Given the description of an element on the screen output the (x, y) to click on. 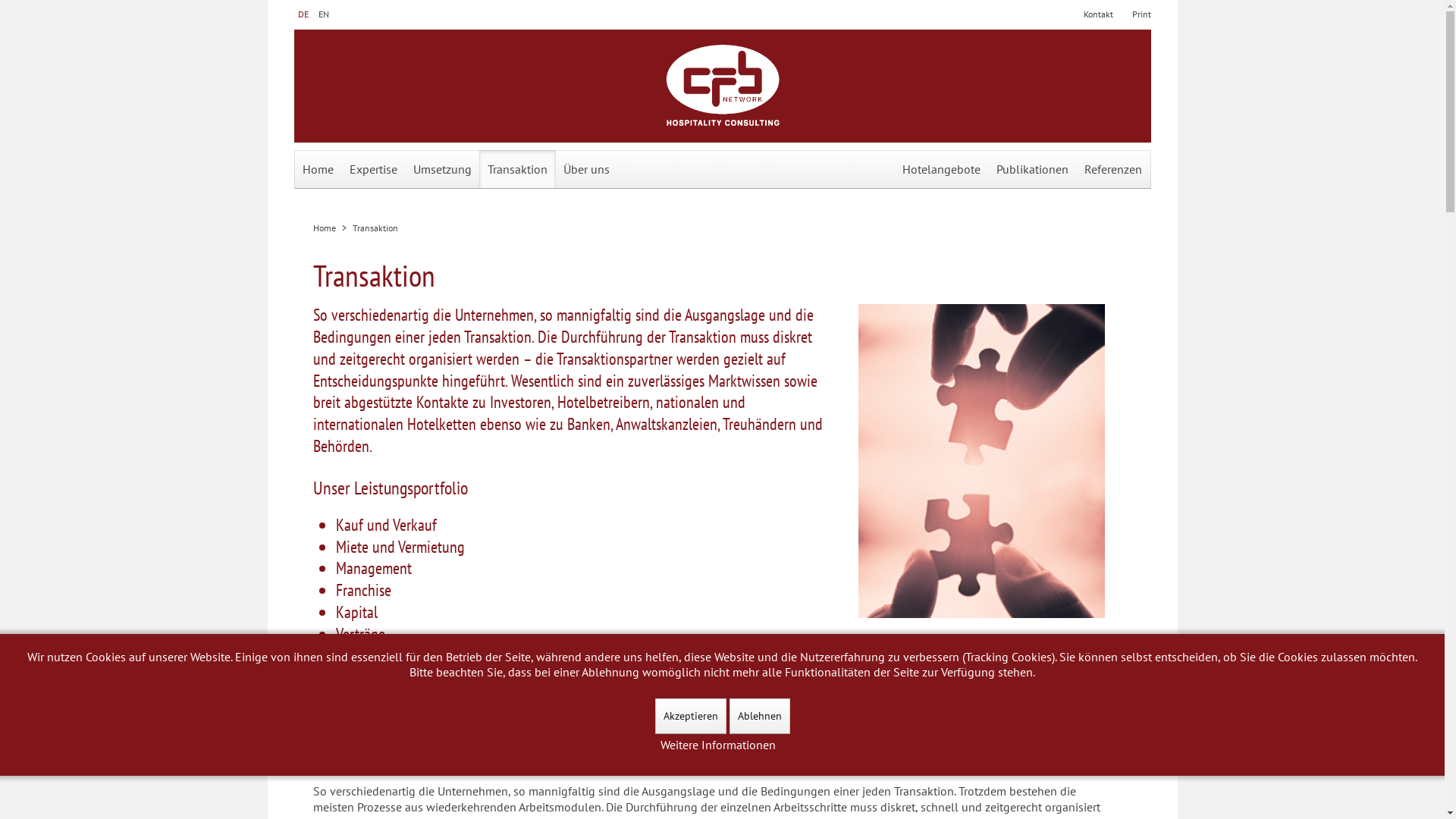
Umsetzung Element type: text (442, 169)
Publikationen Element type: text (1031, 169)
Home Element type: text (318, 169)
Ablehnen Element type: text (759, 716)
Home Element type: text (323, 227)
Akzeptieren Element type: text (690, 716)
EN Element type: text (323, 13)
Hotelangebote Element type: text (940, 169)
Expertise Element type: text (373, 169)
Weitere Informationen Element type: text (717, 745)
Kontakt Element type: text (1097, 13)
Referenzen Element type: text (1112, 169)
Print Element type: text (1140, 13)
Transaktion Element type: text (517, 169)
DE Element type: text (303, 13)
